Given the description of an element on the screen output the (x, y) to click on. 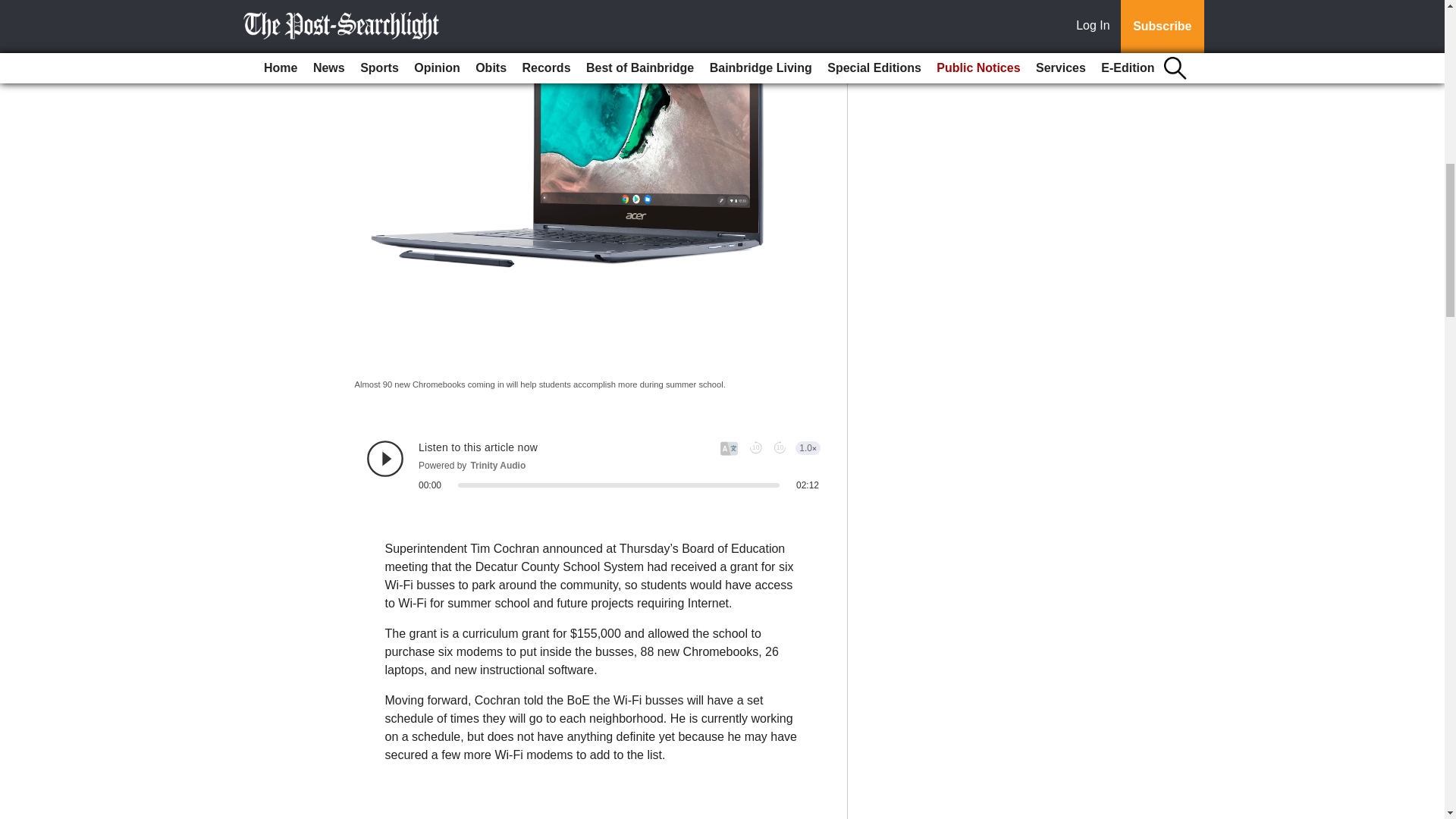
Trinity Audio Player (592, 465)
